Given the description of an element on the screen output the (x, y) to click on. 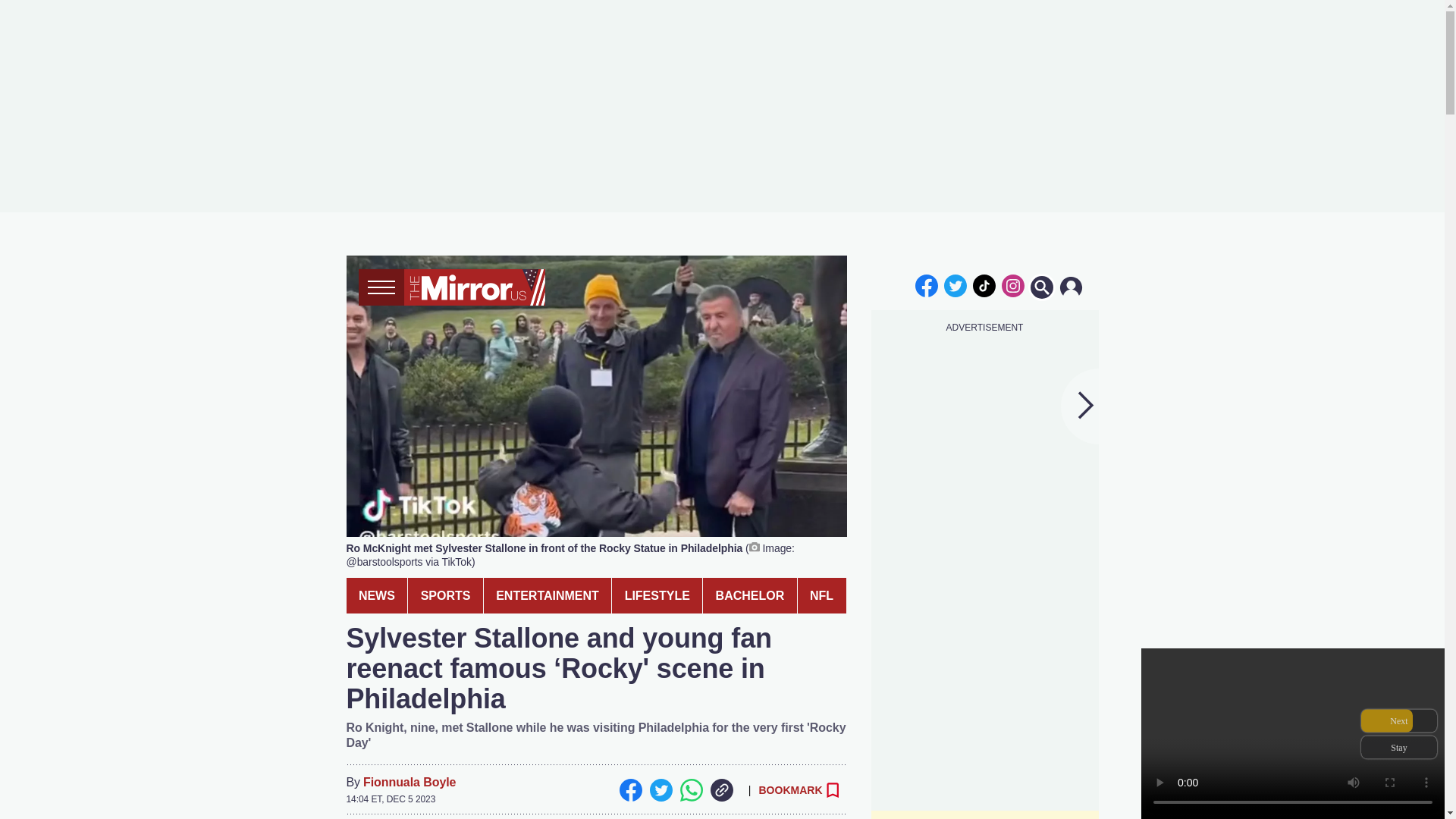
NFL (821, 595)
ENTERTAINMENT (547, 595)
Twitter (660, 789)
facebook (926, 285)
Facebook (630, 789)
tiktok (984, 285)
Fionnuala Boyle (408, 782)
NEWS (376, 595)
Whatsapp (690, 789)
instagram (1012, 285)
BACHELOR (749, 595)
LIFESTYLE (656, 595)
SPORTS (445, 595)
twitter (955, 285)
